Given the description of an element on the screen output the (x, y) to click on. 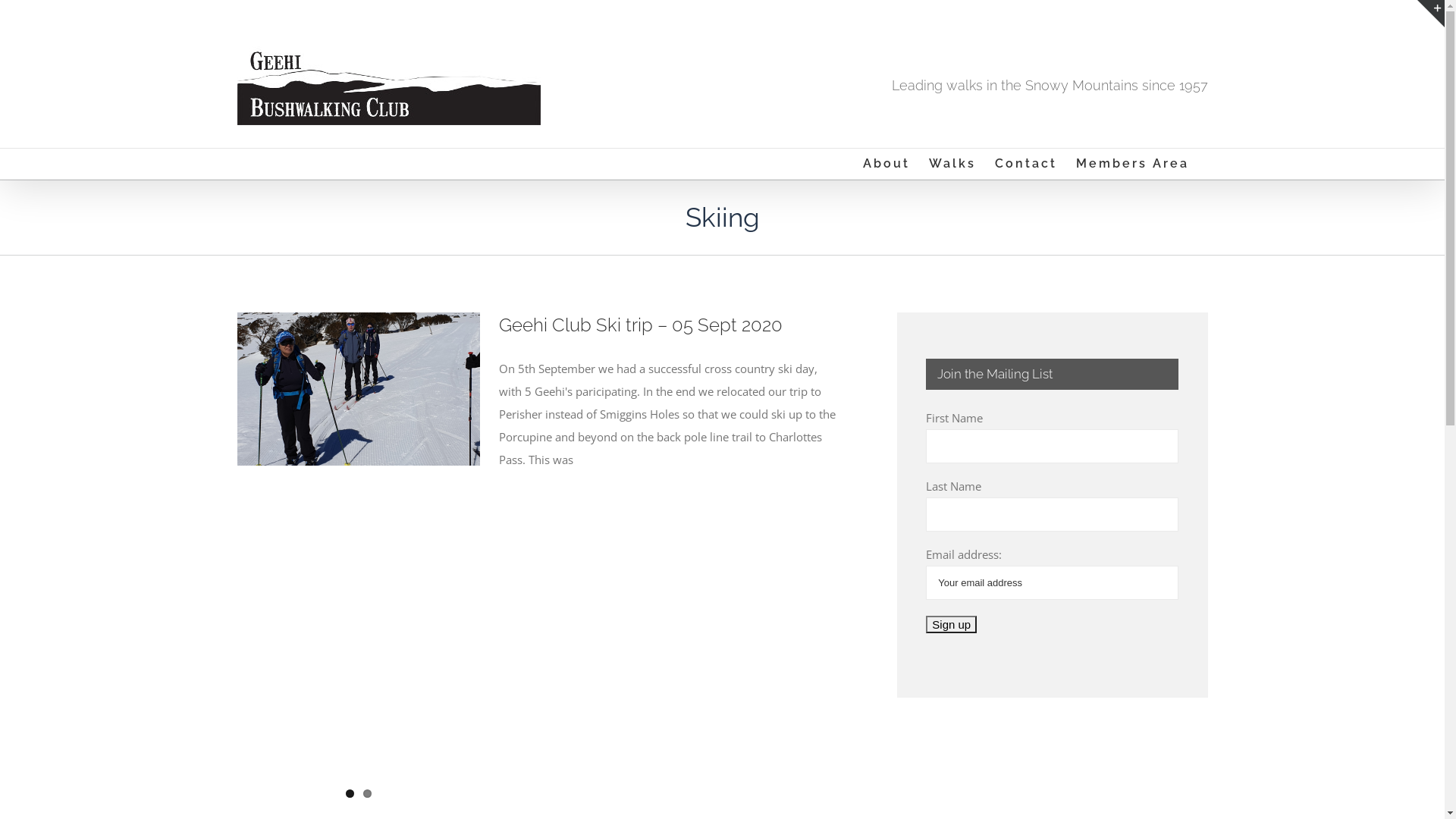
About Element type: text (886, 163)
Toggle Sliding Bar Area Element type: text (1430, 13)
Contact Element type: text (1025, 163)
Members Area Element type: text (1131, 163)
1 Element type: text (349, 793)
Walks Element type: text (951, 163)
2 Element type: text (366, 793)
Sign up Element type: text (950, 624)
